Given the description of an element on the screen output the (x, y) to click on. 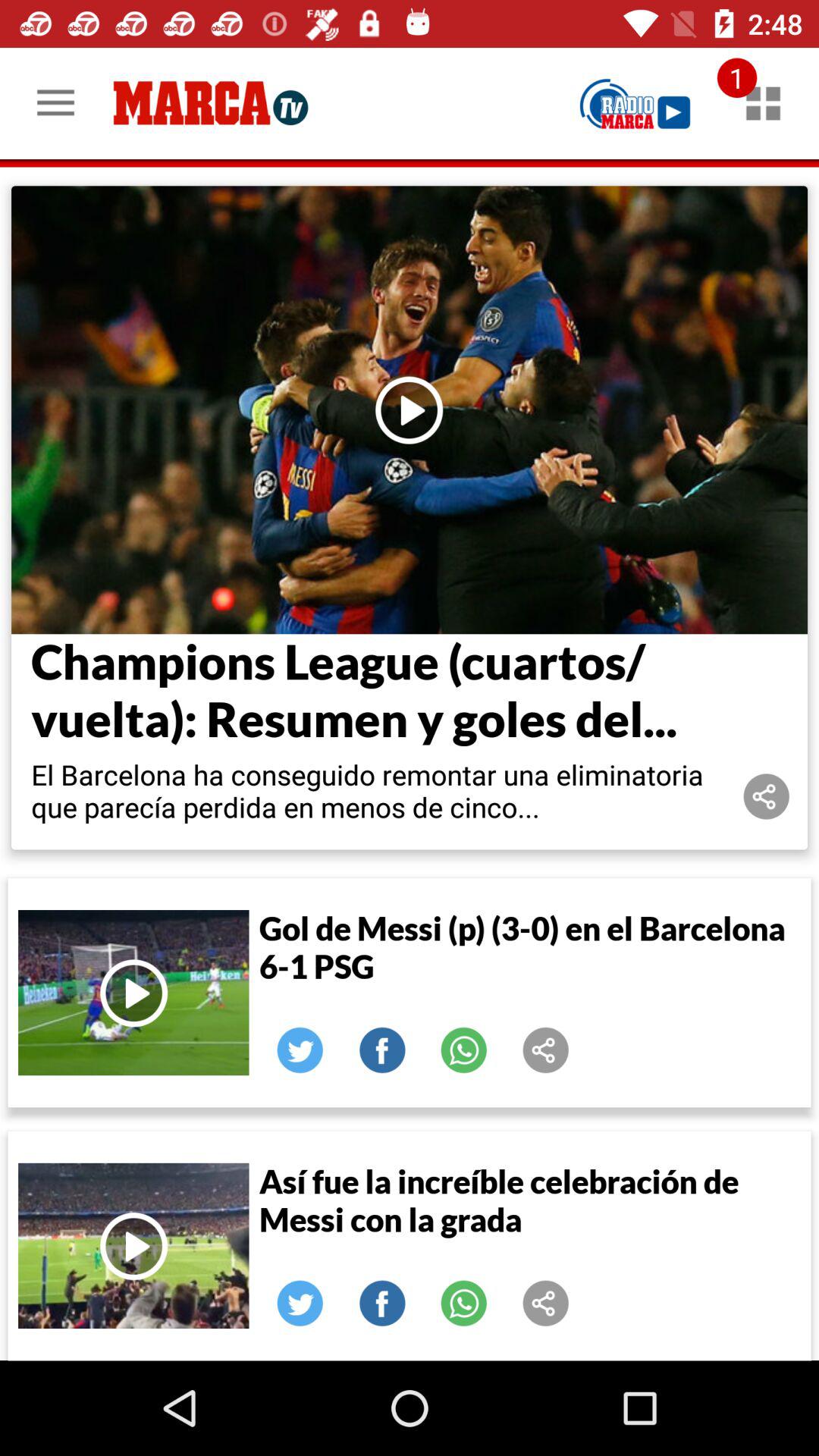
share the article (545, 1050)
